Given the description of an element on the screen output the (x, y) to click on. 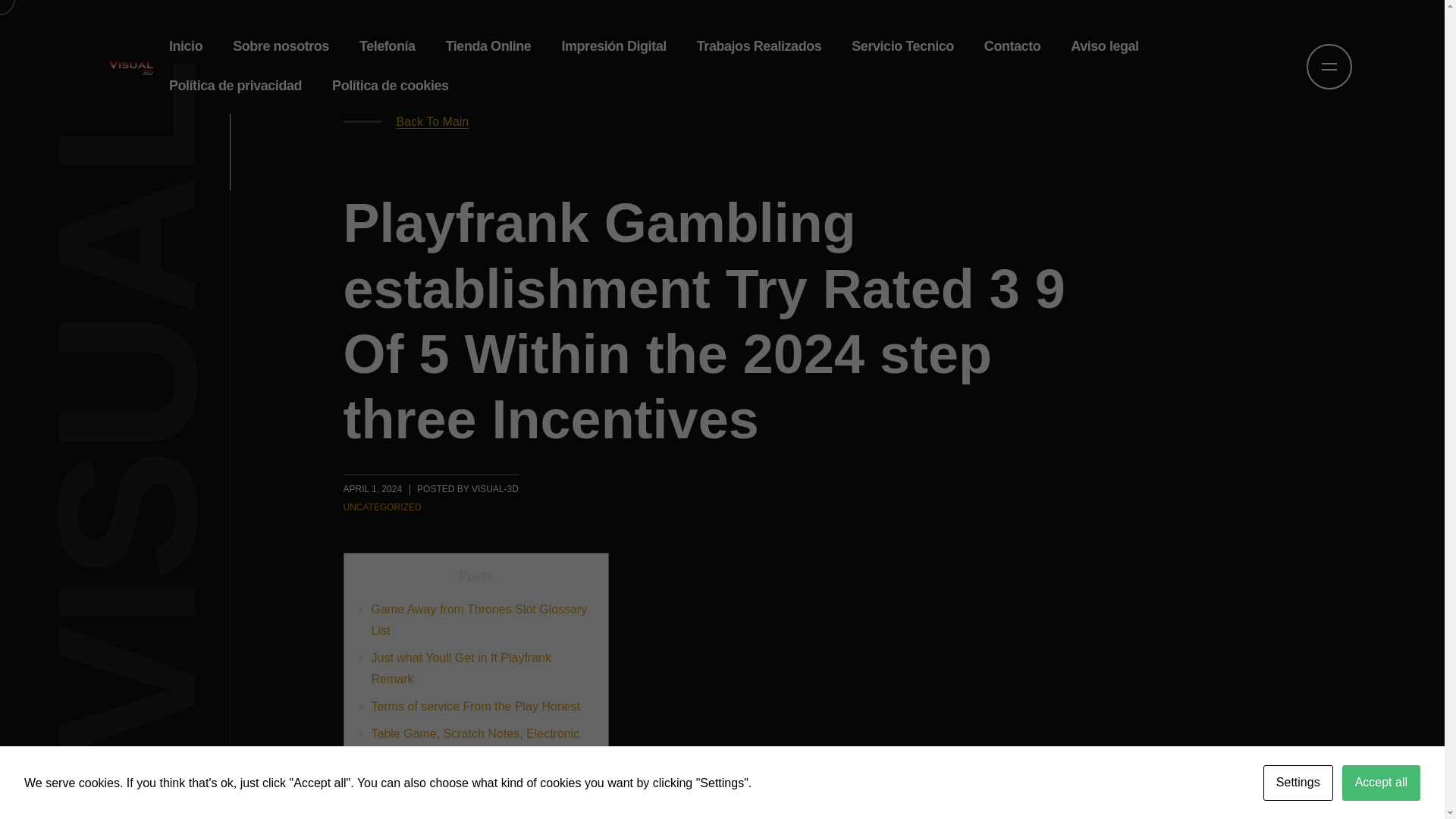
Tienda Online (488, 46)
Trabajos Realizados (759, 46)
Servicio Tecnico (902, 46)
Sobre nosotros (279, 46)
Contacto (1012, 46)
Inicio (185, 46)
Aviso legal (1104, 46)
